Given the description of an element on the screen output the (x, y) to click on. 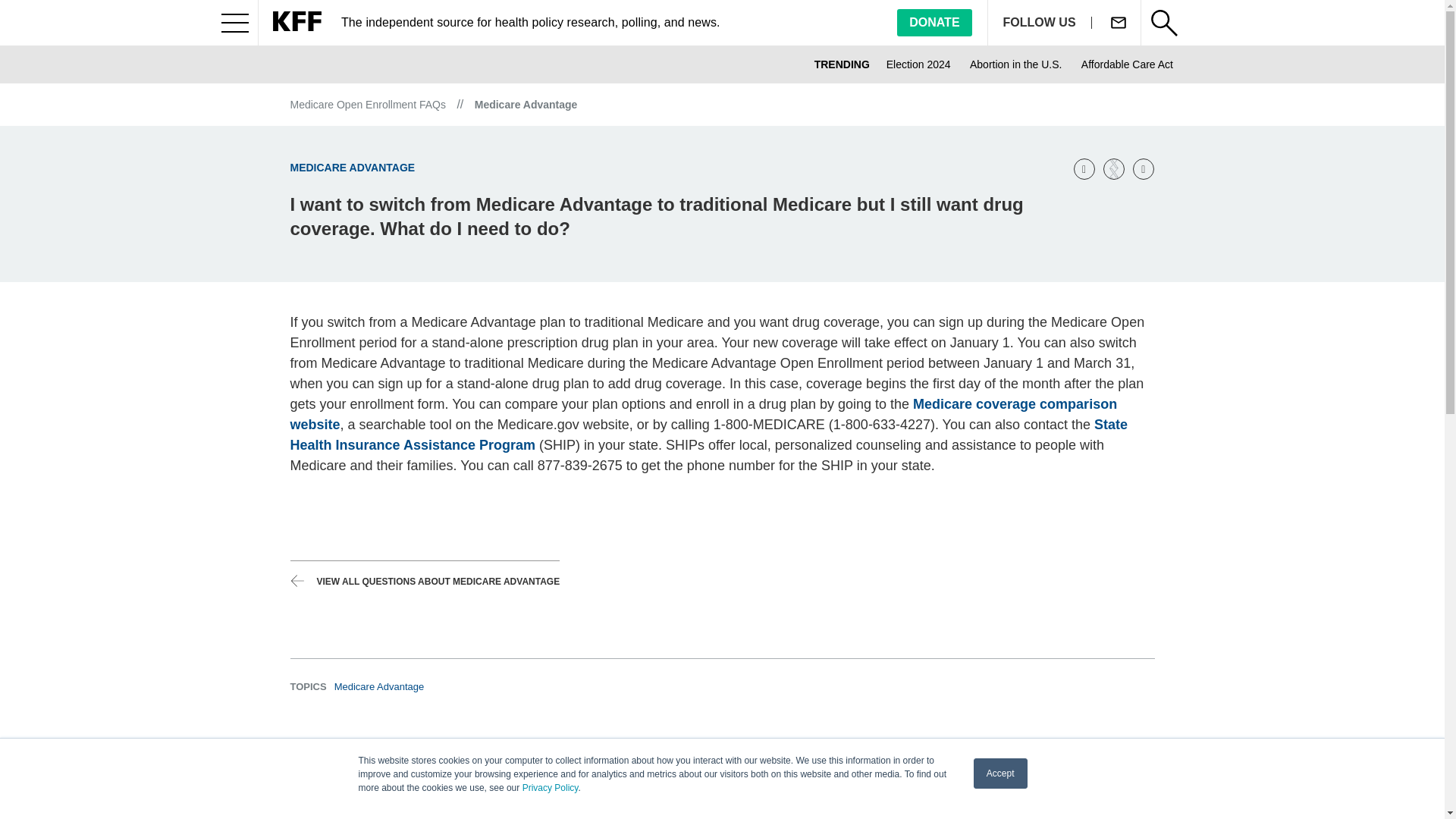
Accept (1000, 773)
Privacy Policy (550, 787)
